Given the description of an element on the screen output the (x, y) to click on. 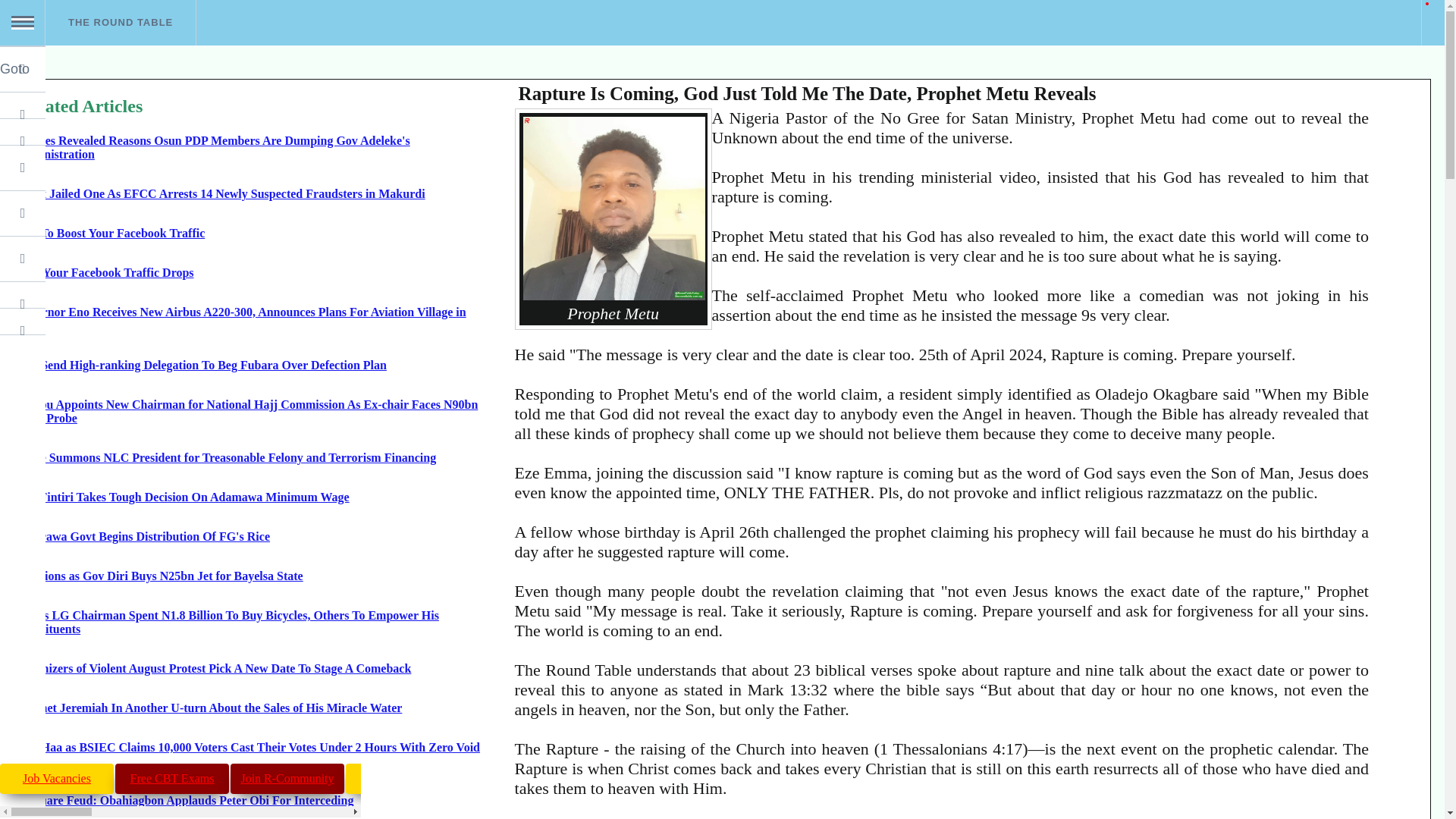
Password (134, 258)
The Round Table Contact (134, 294)
Join R-Community (286, 778)
Make Money (403, 778)
Contact (134, 294)
Account (134, 212)
The Round Table Privacy and Cookies Policy (134, 320)
The Round Table Password manager (134, 258)
